Given the description of an element on the screen output the (x, y) to click on. 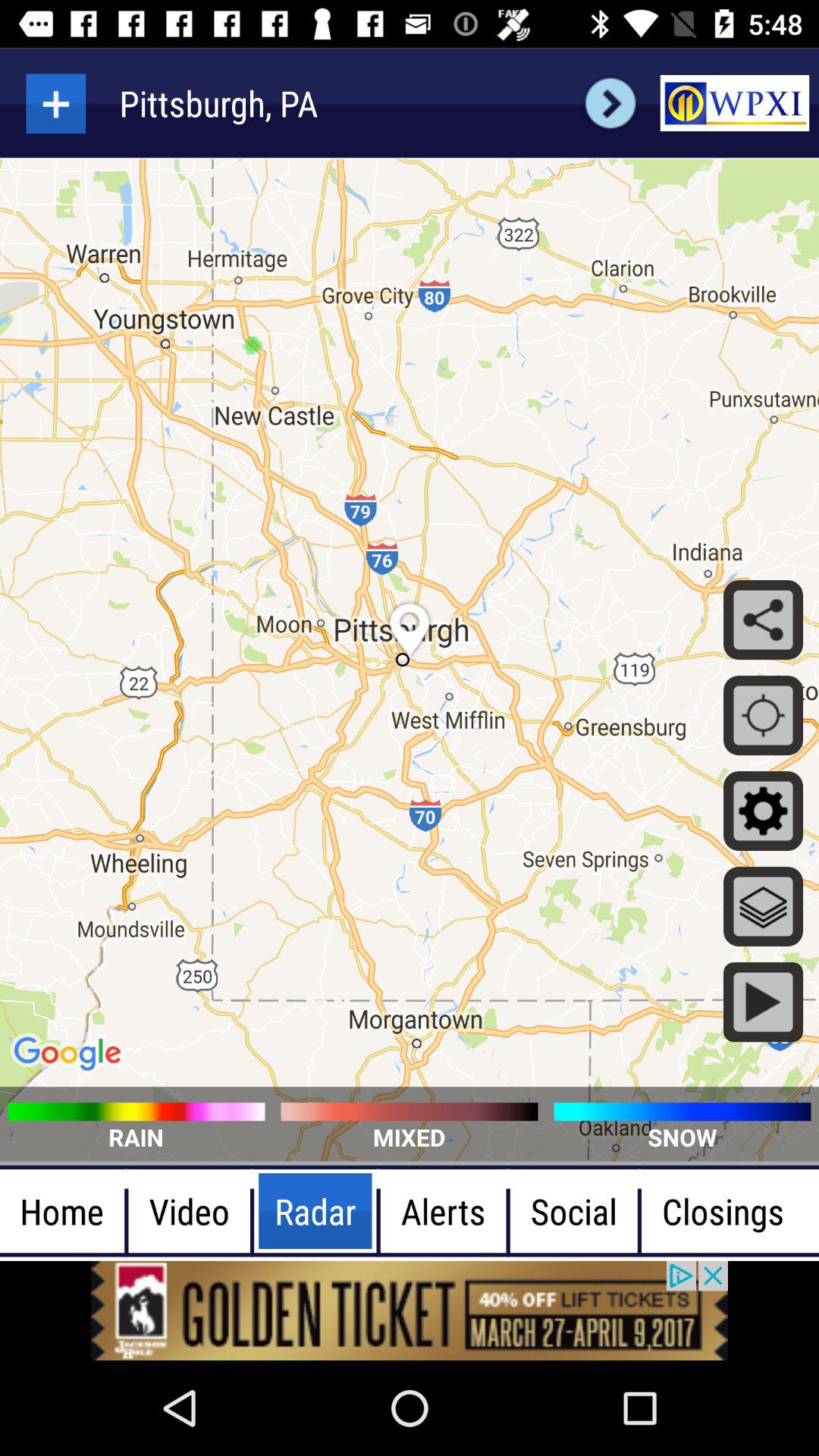
press for next location (610, 103)
